Given the description of an element on the screen output the (x, y) to click on. 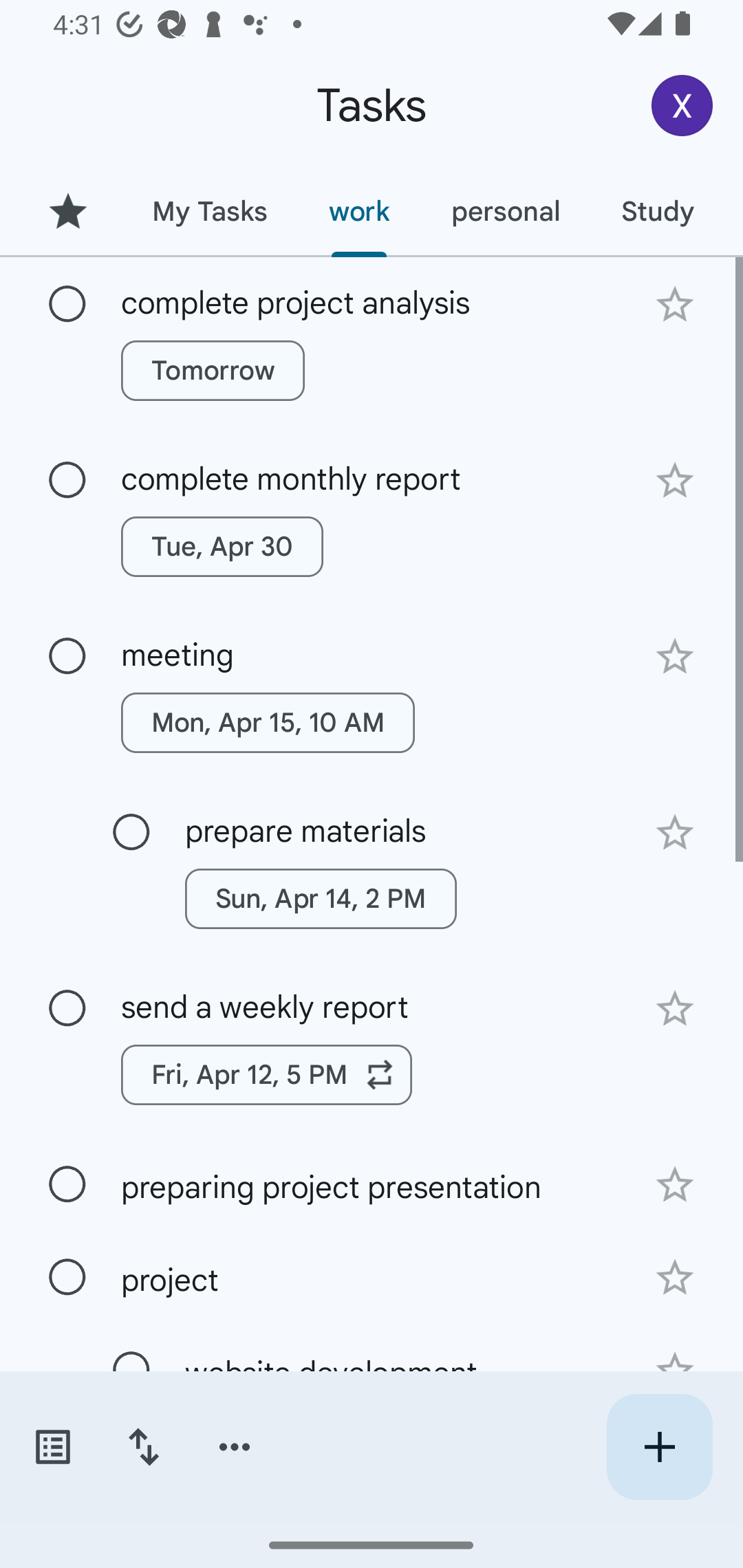
Starred (67, 211)
My Tasks (209, 211)
personal (504, 211)
Study (656, 211)
Add star (674, 303)
Mark as complete (67, 304)
Tomorrow (212, 369)
Add star (674, 480)
Mark as complete (67, 480)
Tue, Apr 30 (222, 546)
Add star (674, 656)
Mark as complete (67, 655)
Mon, Apr 15, 10 AM (267, 722)
Add star (674, 832)
Mark as complete (131, 833)
Sun, Apr 14, 2 PM (320, 897)
Add star (674, 1007)
Mark as complete (67, 1008)
Fri, Apr 12, 5 PM (266, 1074)
Add star (674, 1184)
Mark as complete (67, 1184)
Add star (674, 1277)
Mark as complete (67, 1276)
Switch task lists (52, 1447)
Create new task (659, 1446)
Change sort order (143, 1446)
More options (234, 1446)
